Given the description of an element on the screen output the (x, y) to click on. 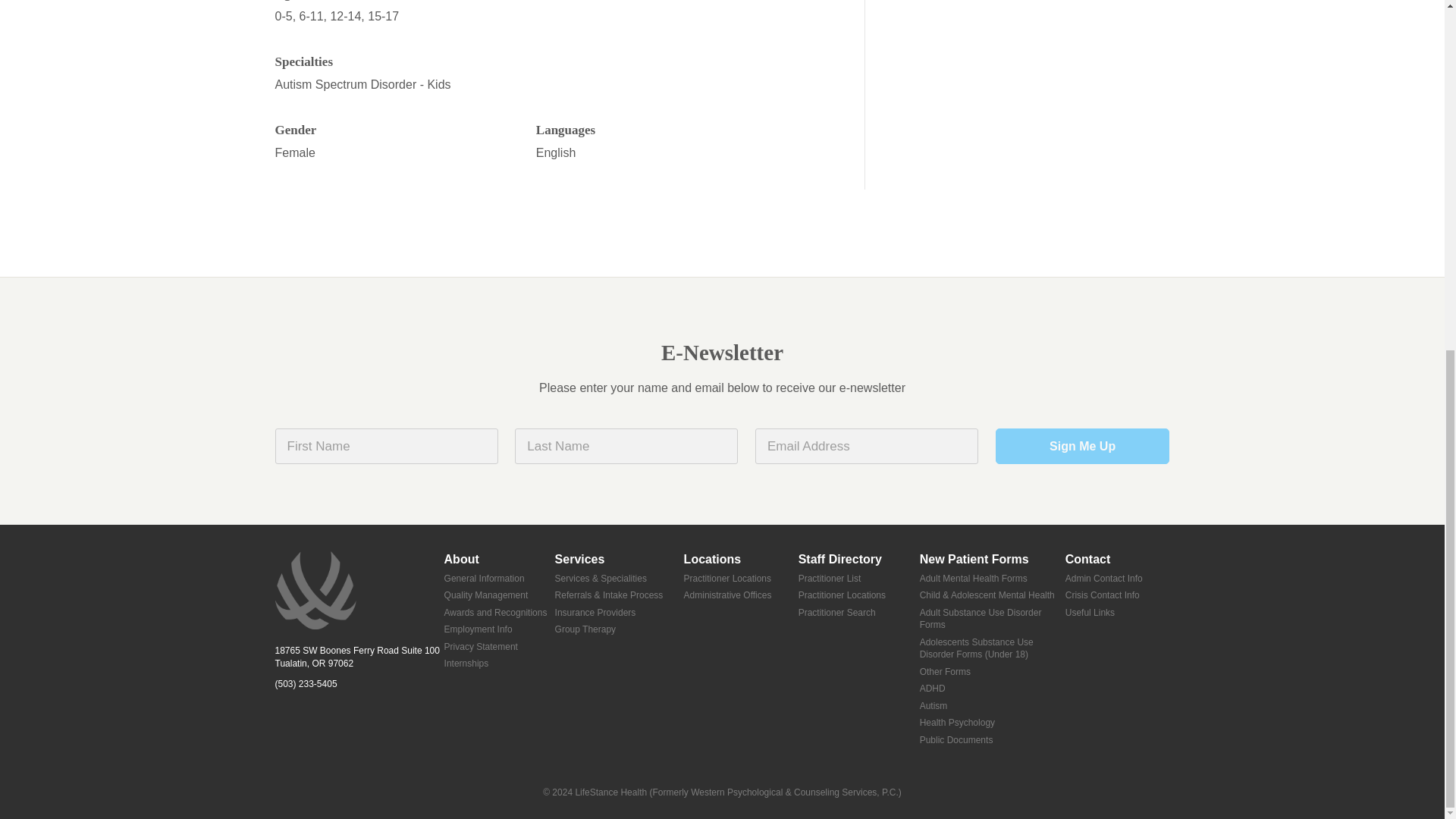
Practitioner List (858, 579)
Staff Directory (858, 560)
Admin Contact Info (1117, 579)
About (499, 560)
Insurance Providers (619, 612)
Administrative Offices (740, 595)
Autism (992, 705)
Quality Management (499, 595)
Public Documents (992, 740)
Adult Mental Health Forms (992, 579)
Practitioner Locations (858, 595)
Health Psychology (992, 723)
Sign Me Up (1082, 446)
Awards and Recognitions (499, 612)
New Patient Forms (992, 560)
